Given the description of an element on the screen output the (x, y) to click on. 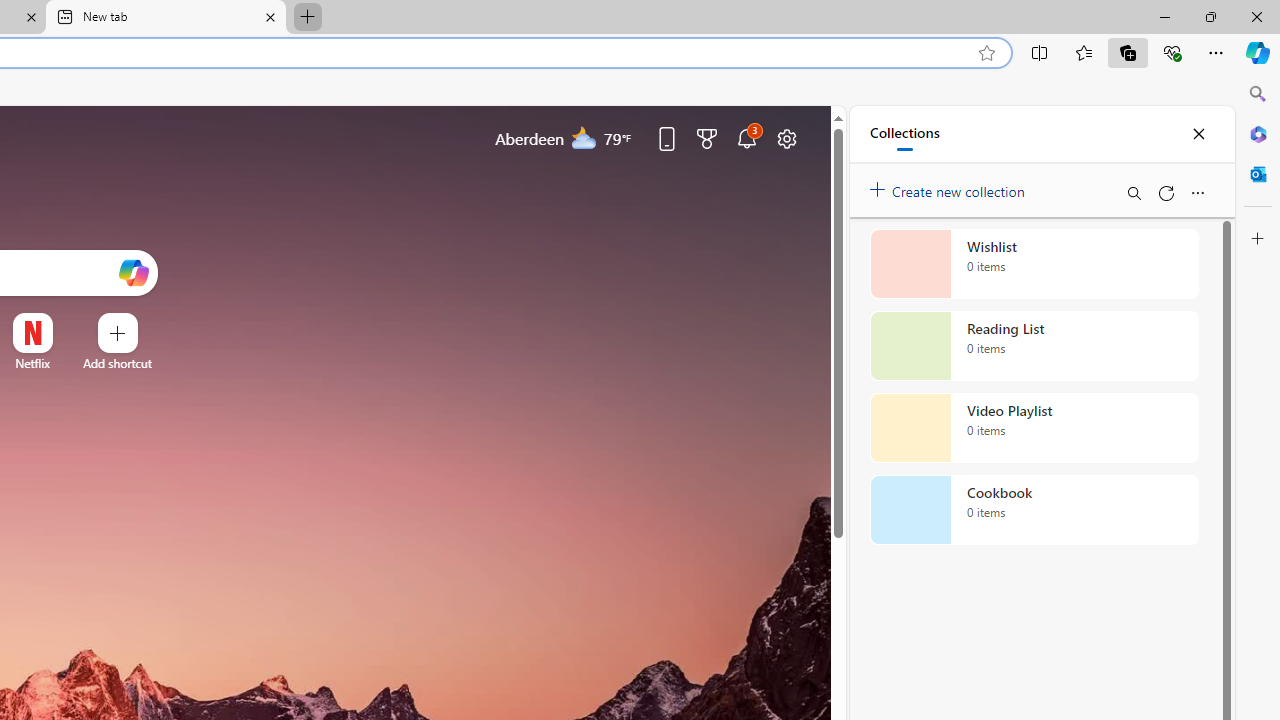
Mostly cloudy (584, 137)
